Given the description of an element on the screen output the (x, y) to click on. 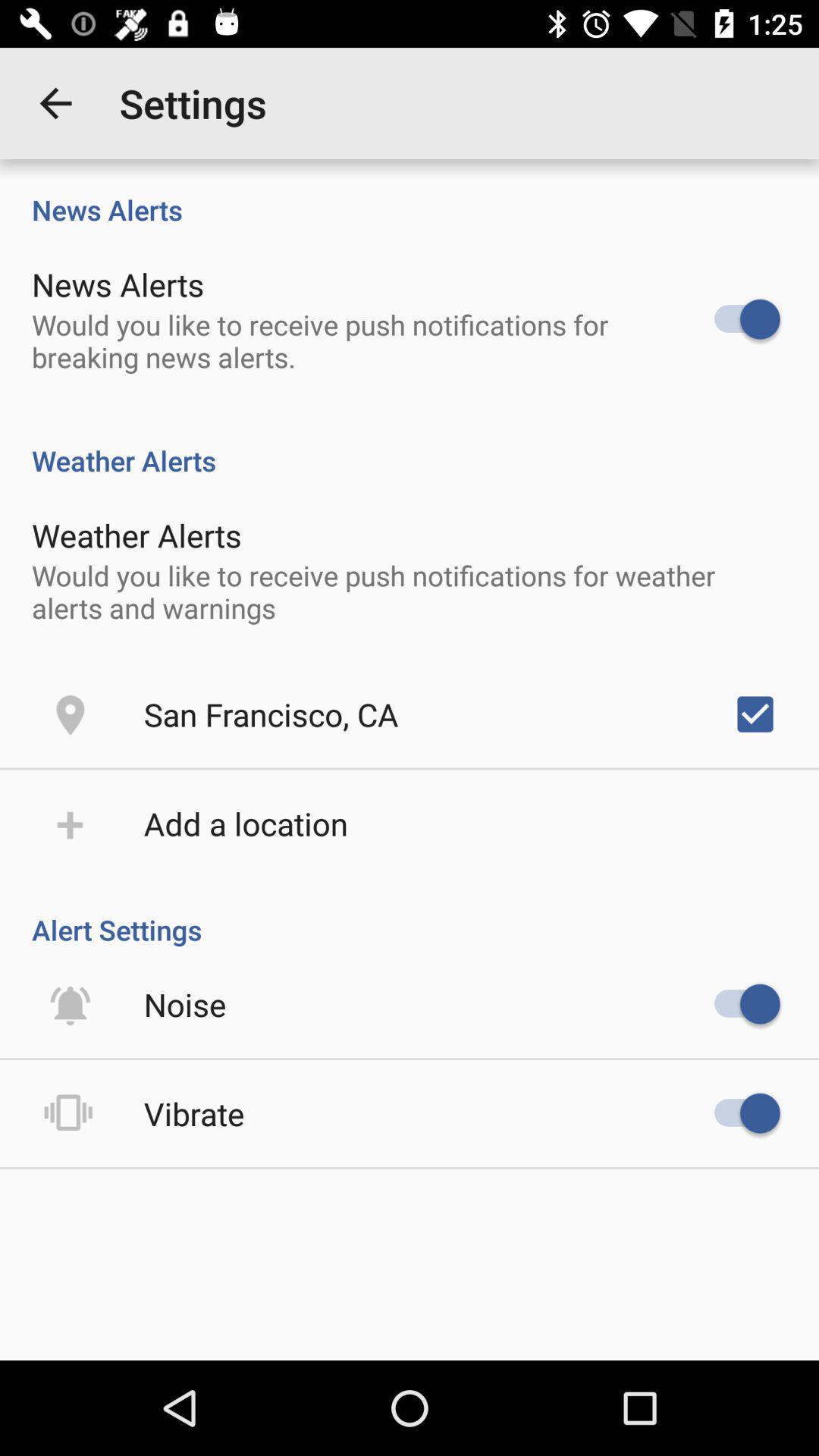
open the item above alert settings icon (245, 823)
